Given the description of an element on the screen output the (x, y) to click on. 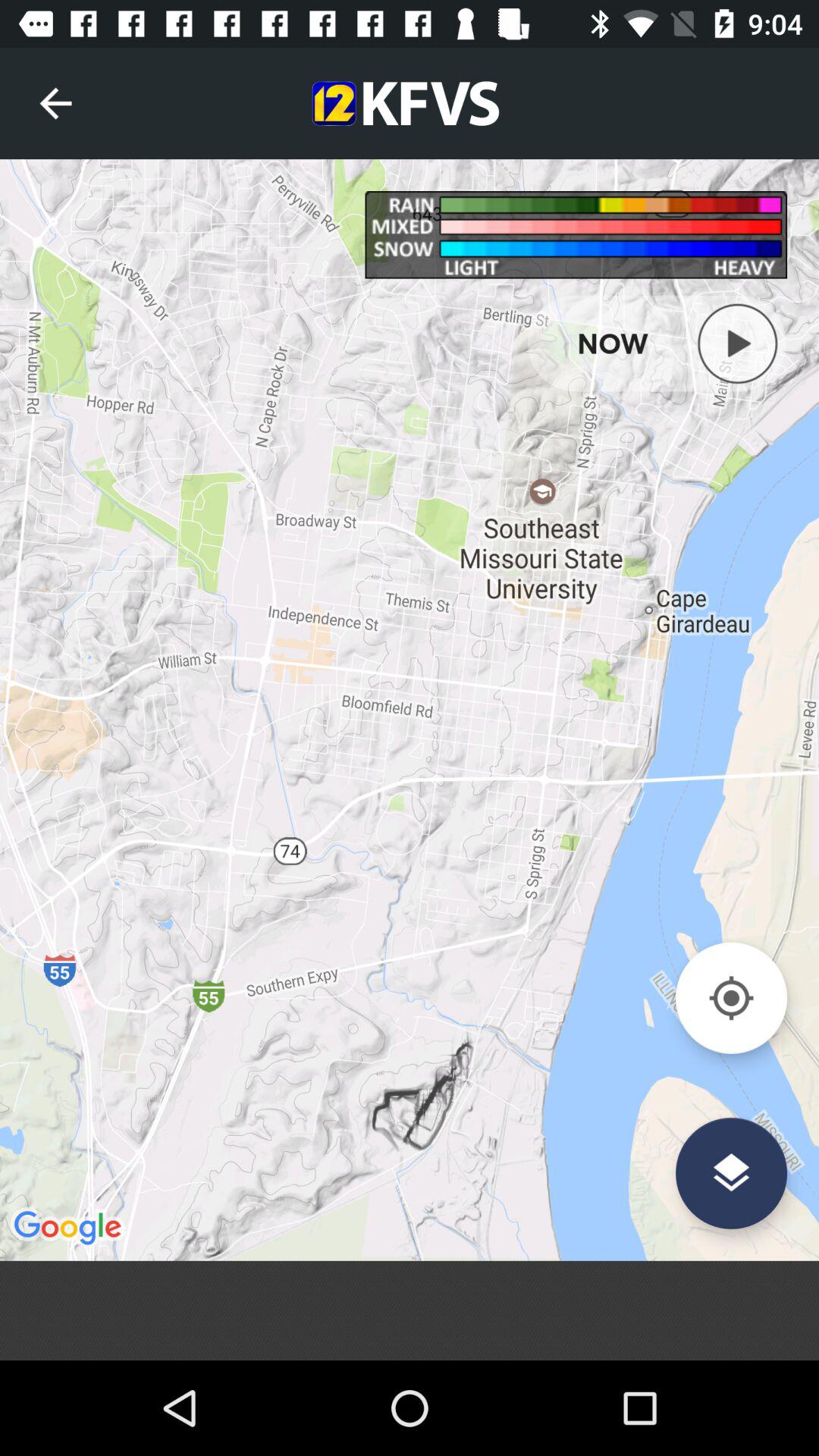
show your location (731, 997)
